Given the description of an element on the screen output the (x, y) to click on. 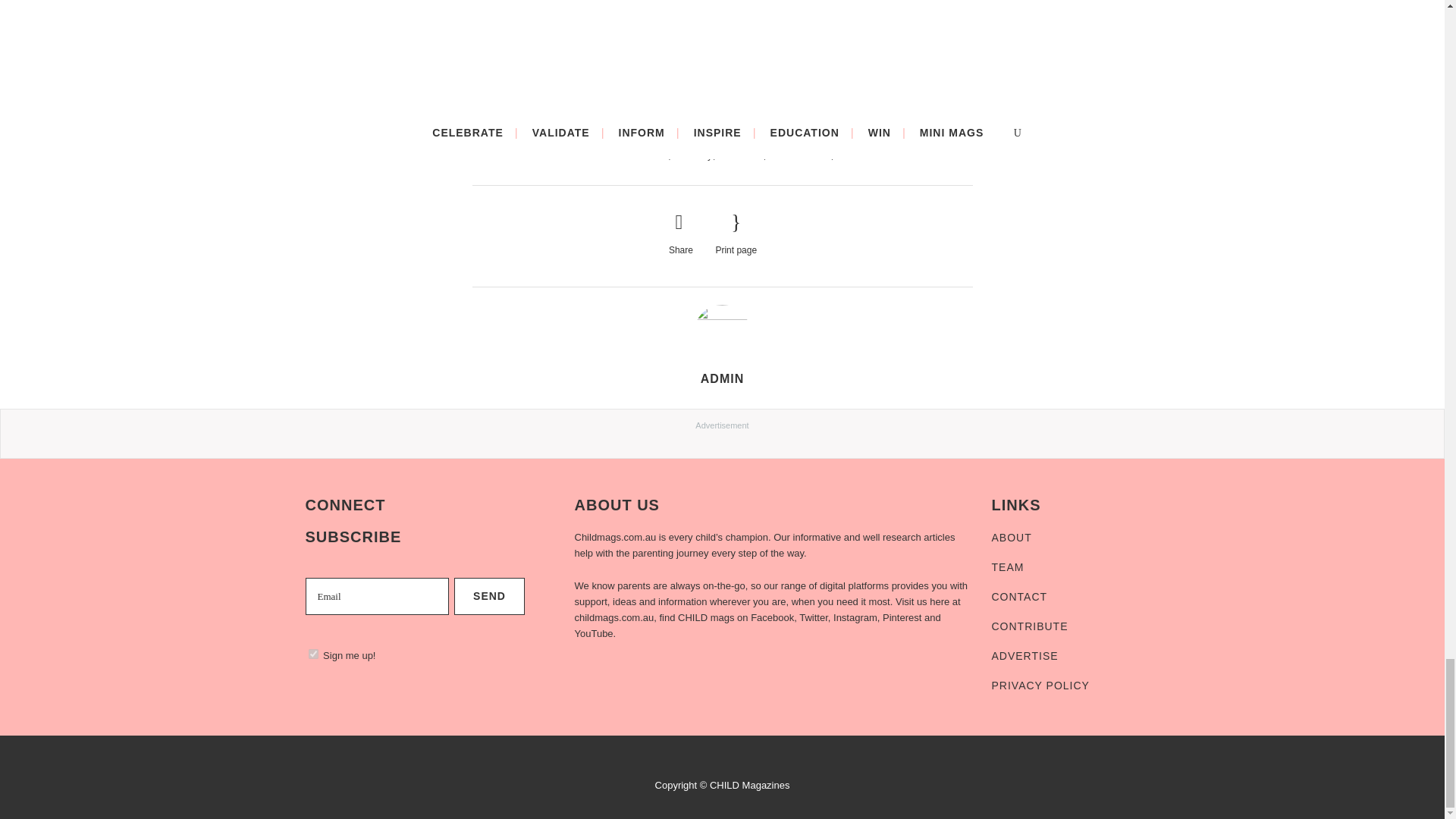
Mental Health (799, 154)
School (852, 154)
Send (489, 596)
1 (312, 654)
Children (648, 154)
Education (740, 154)
disability (694, 154)
